Given the description of an element on the screen output the (x, y) to click on. 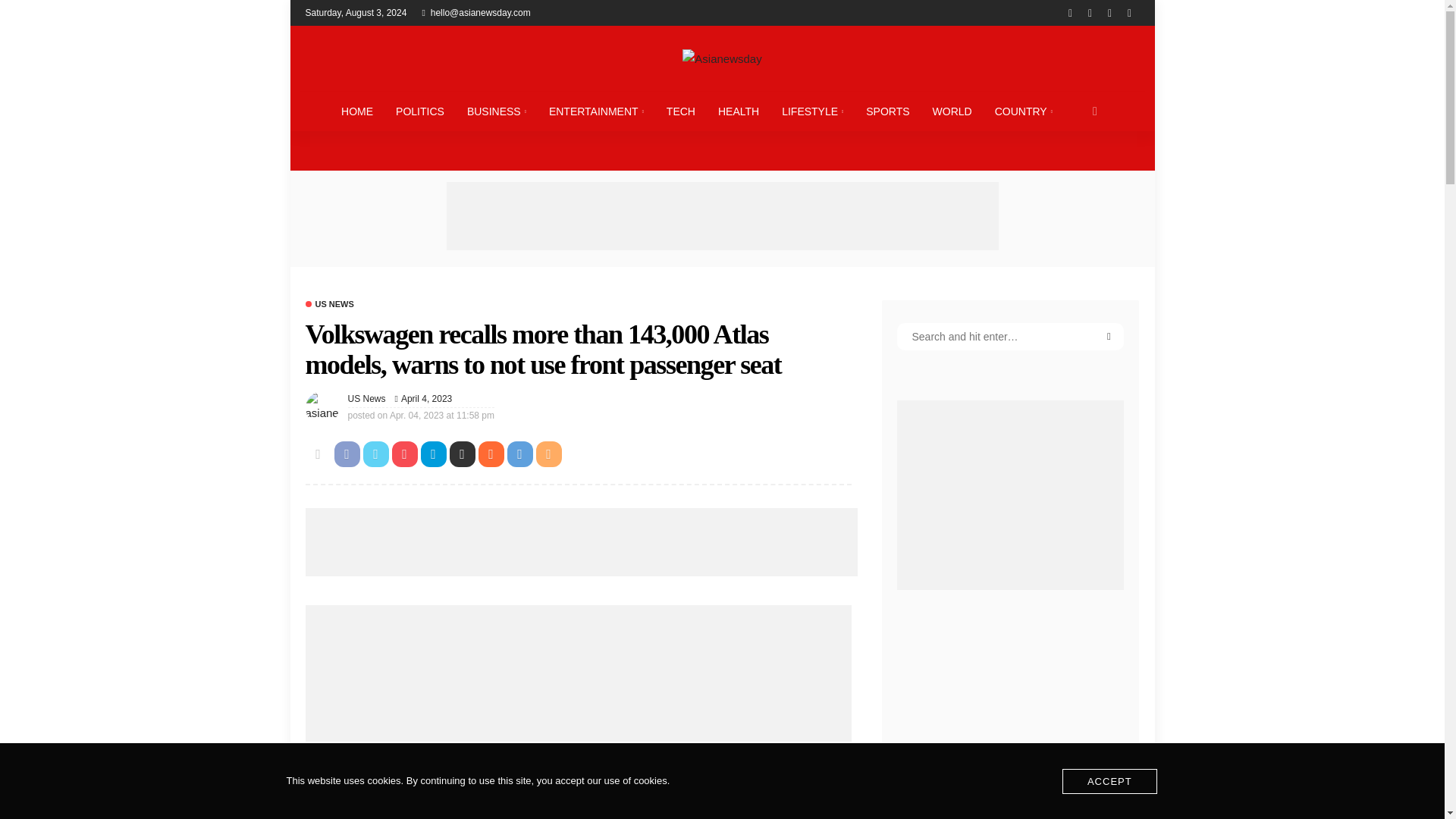
COUNTRY (1024, 111)
BUSINESS (496, 111)
search (1095, 111)
US News (366, 398)
Asia Newsday (721, 58)
HEALTH (738, 111)
POLITICS (419, 111)
WORLD (952, 111)
US News (328, 304)
ENTERTAINMENT (596, 111)
US News (366, 398)
SPORTS (887, 111)
US NEWS (328, 304)
TECH (680, 111)
HOME (357, 111)
